Given the description of an element on the screen output the (x, y) to click on. 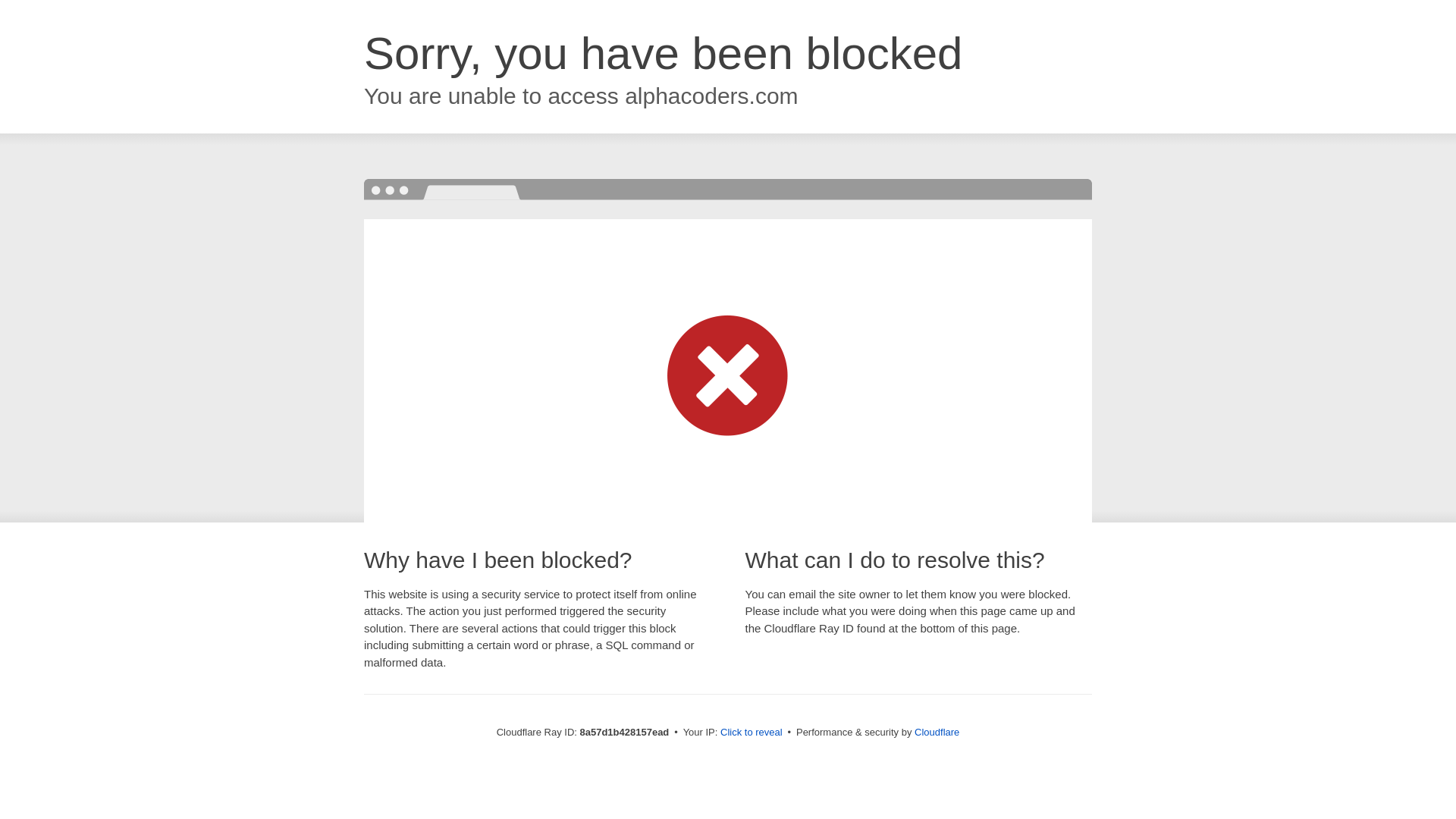
Click to reveal (751, 732)
Cloudflare (936, 731)
